Given the description of an element on the screen output the (x, y) to click on. 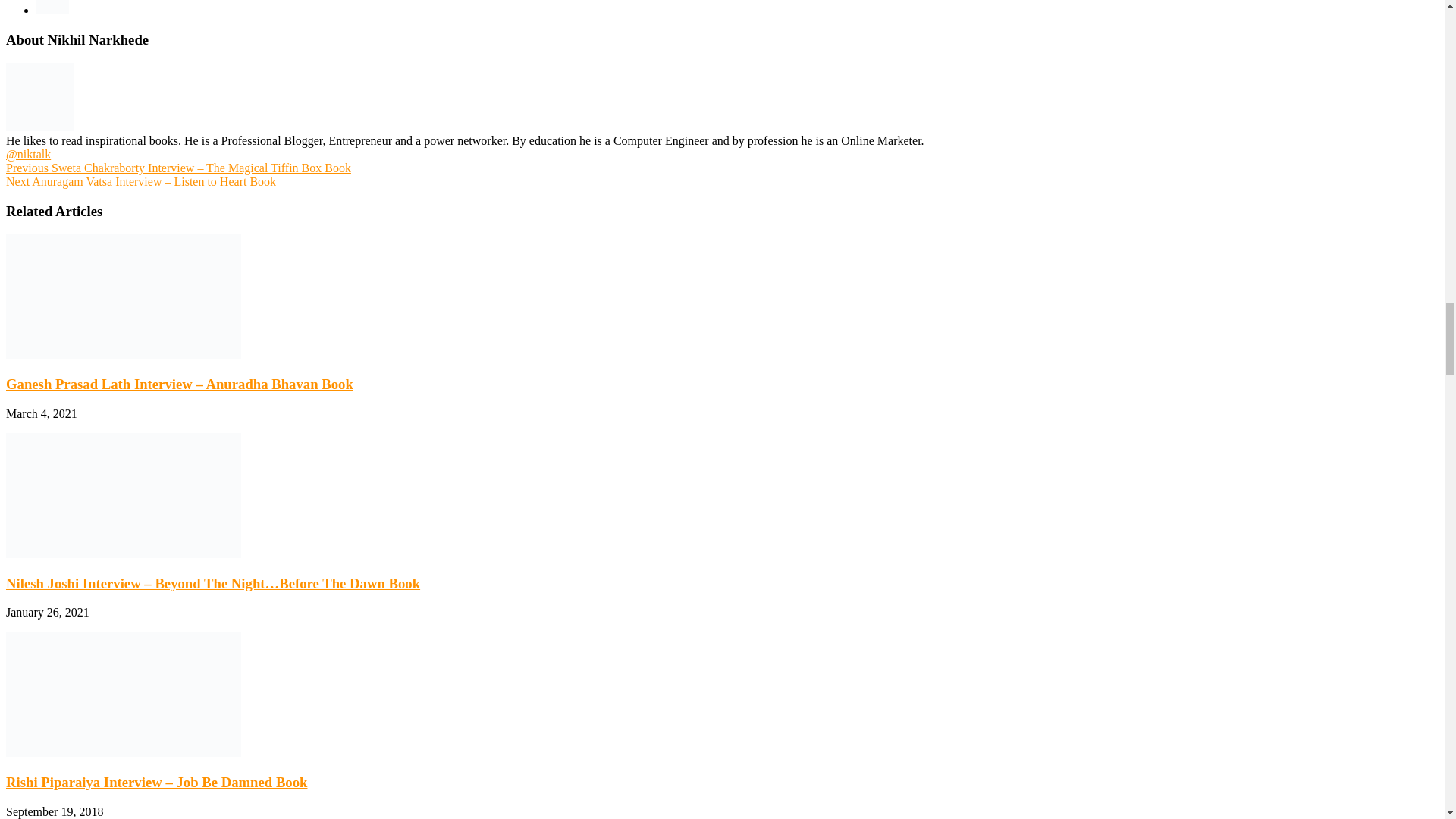
Pin It (52, 7)
